Given the description of an element on the screen output the (x, y) to click on. 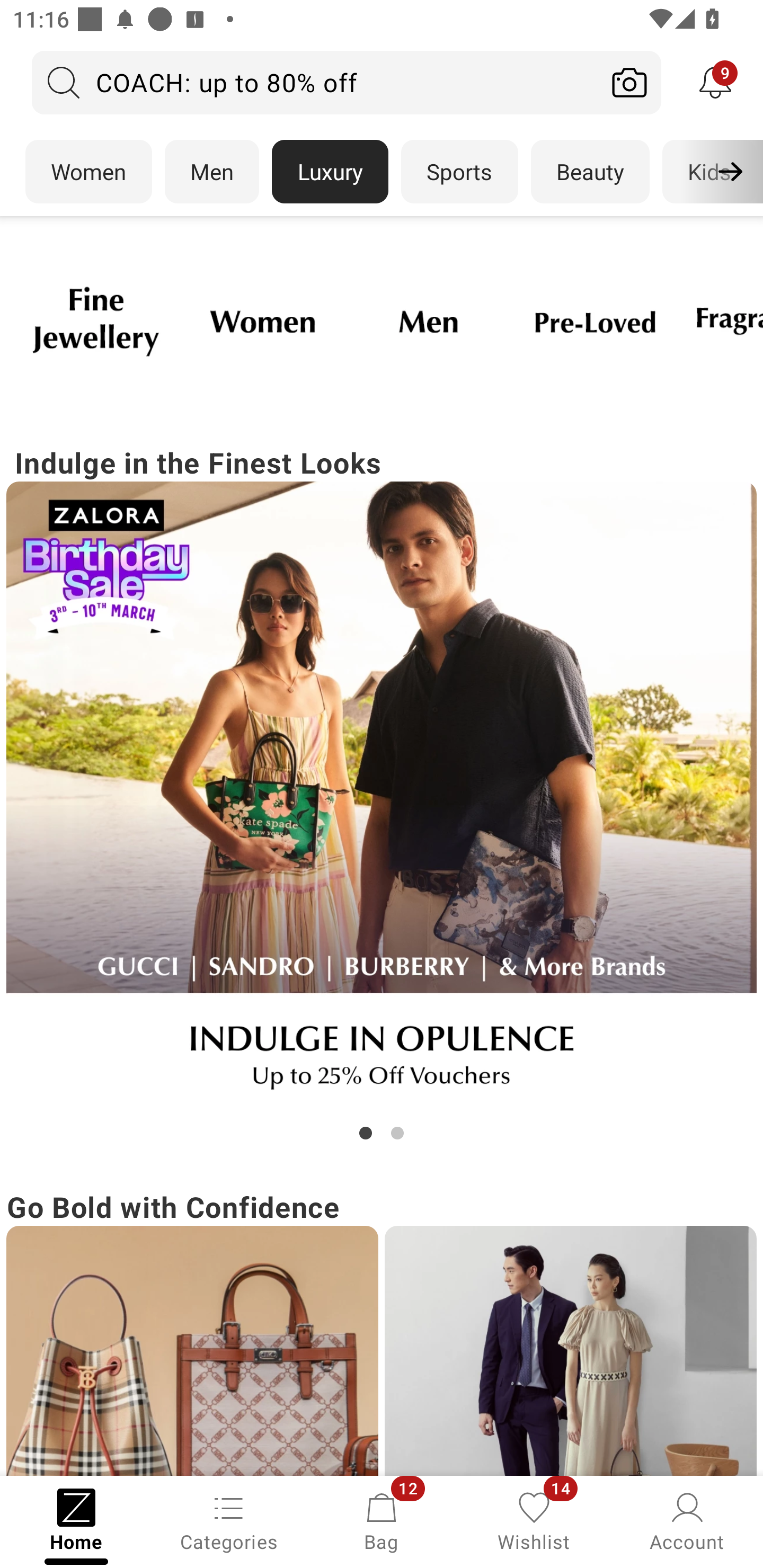
COACH: up to 80% off (314, 82)
Women (88, 171)
Men (211, 171)
Luxury (329, 171)
Sports (459, 171)
Beauty (590, 171)
Campaign banner (95, 321)
Campaign banner (261, 321)
Campaign banner (428, 321)
Campaign banner (594, 321)
 Indulge in the Finest Looks Campaign banner (381, 792)
Campaign banner (381, 797)
Campaign banner (192, 1350)
Campaign banner (570, 1350)
Categories (228, 1519)
Bag, 12 new notifications Bag (381, 1519)
Wishlist, 14 new notifications Wishlist (533, 1519)
Account (686, 1519)
